Given the description of an element on the screen output the (x, y) to click on. 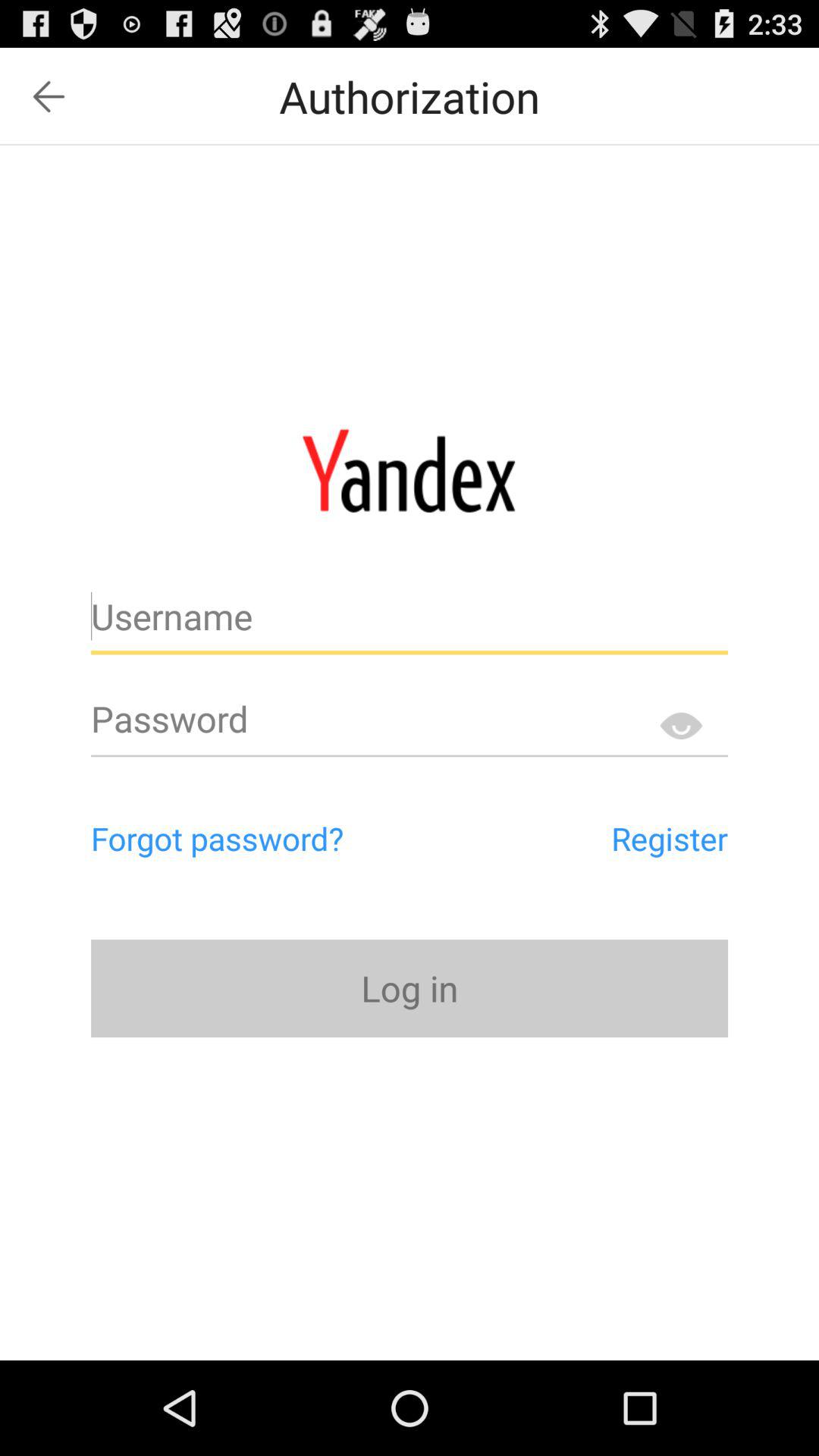
home page (408, 470)
